Given the description of an element on the screen output the (x, y) to click on. 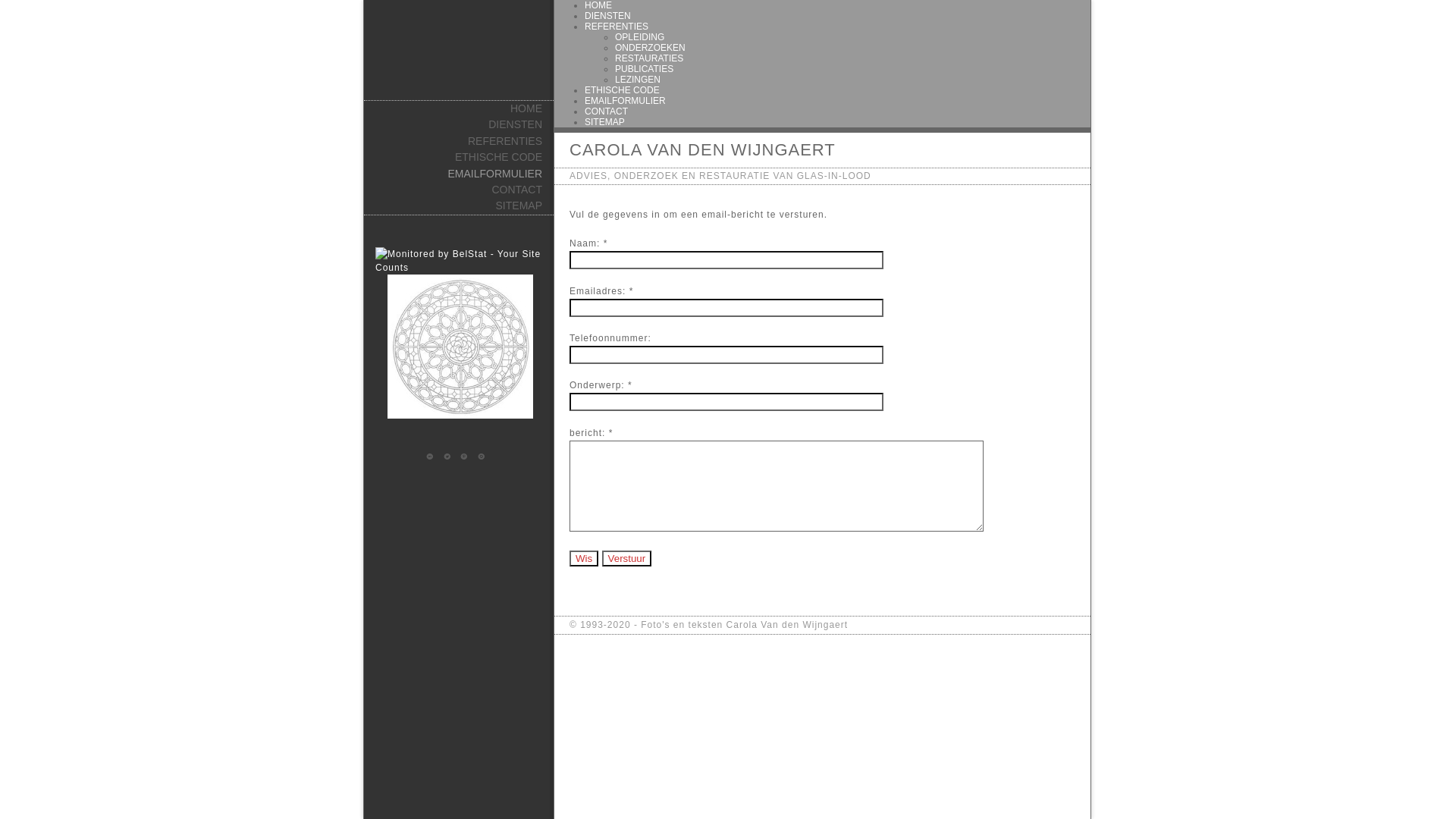
& Element type: text (466, 457)
ETHISCHE CODE Element type: text (621, 89)
DIENSTEN Element type: text (607, 15)
CONTACT Element type: text (605, 111)
SITEMAP Element type: text (458, 205)
HOME Element type: text (597, 5)
DIENSTEN Element type: text (458, 124)
OPLEIDING Element type: text (639, 36)
PUBLICATIES Element type: text (644, 68)
HOME Element type: text (458, 108)
RESTAURATIES Element type: text (649, 58)
CONTACT Element type: text (458, 189)
REFERENTIES Element type: text (616, 26)
REFERENTIES Element type: text (458, 141)
SITEMAP Element type: text (604, 121)
Verstuur Element type: text (627, 558)
EMAILFORMULIER Element type: text (624, 100)
l Element type: text (450, 457)
EMAILFORMULIER Element type: text (458, 174)
i Element type: text (432, 457)
ONDERZOEKEN Element type: text (650, 47)
ETHISCHE CODE Element type: text (458, 157)
LEZINGEN Element type: text (637, 79)
CAROLA VAN DEN WIJNGAERT Element type: text (702, 149)
4 Element type: text (484, 457)
